Given the description of an element on the screen output the (x, y) to click on. 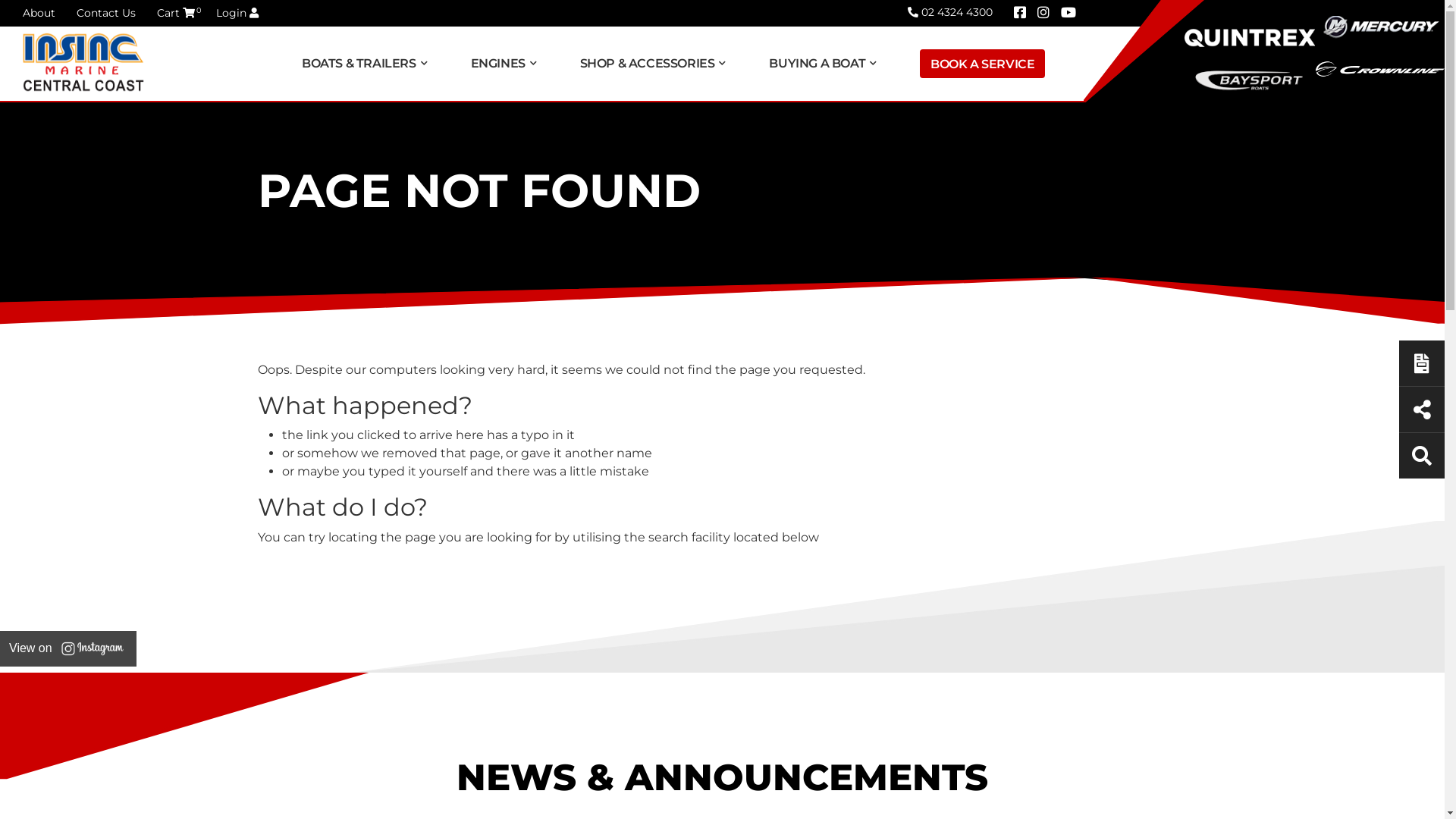
About Element type: text (38, 12)
BUYING A BOAT Element type: text (824, 63)
Follow our page on Facebook! Element type: hover (1019, 12)
BOOK A SERVICE Element type: text (981, 63)
ENGINES Element type: text (506, 63)
View on Element type: text (68, 648)
SHOP & ACCESSORIES Element type: text (655, 63)
Login Element type: text (237, 12)
BOATS & TRAILERS Element type: text (366, 63)
Cart
0 Element type: text (175, 12)
Contact Us Element type: text (105, 12)
02 4324 4300 Element type: text (949, 11)
